Given the description of an element on the screen output the (x, y) to click on. 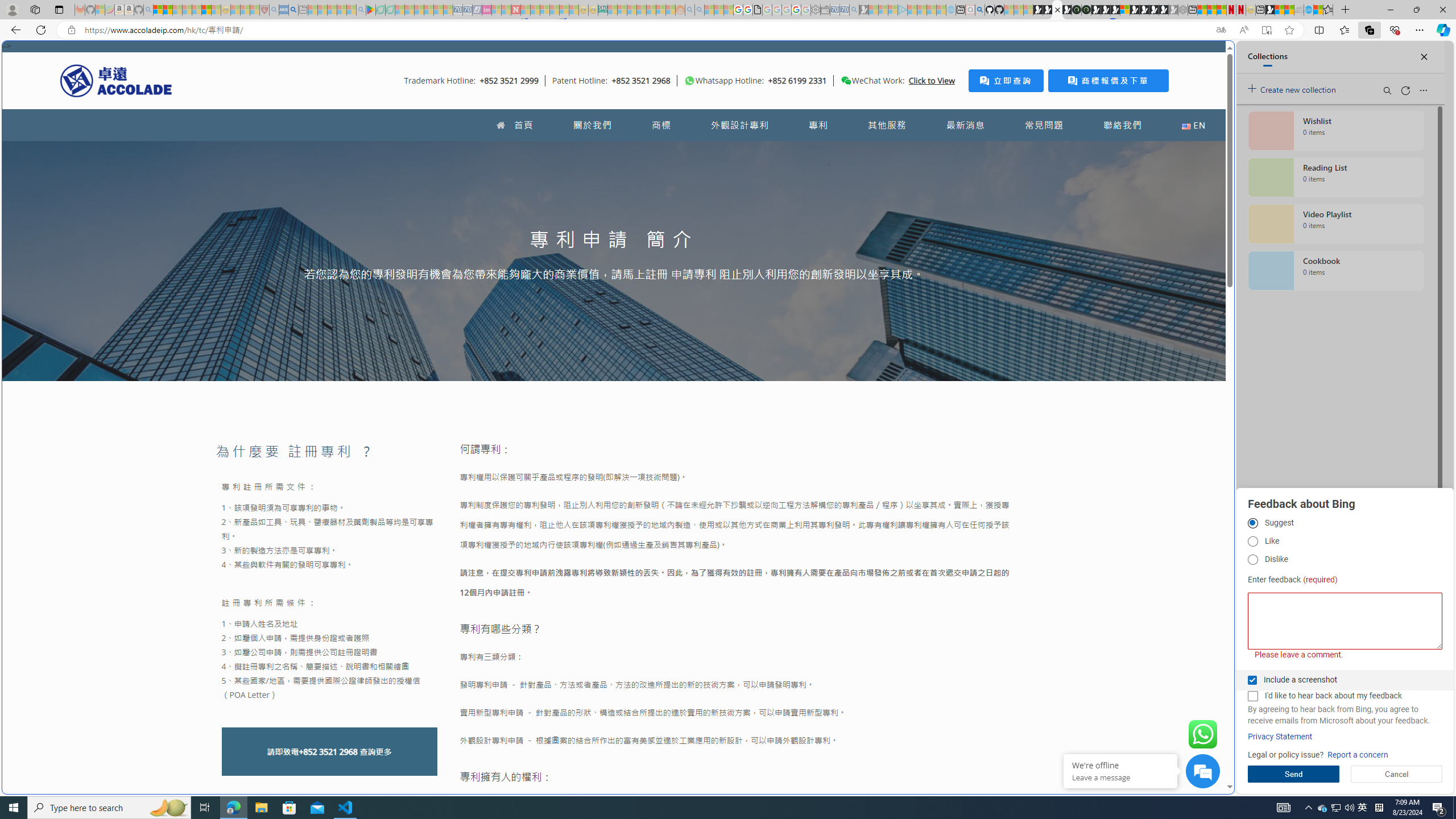
Class: desktop (845, 80)
Suggest (1252, 523)
Microsoft Start Gaming - Sleeping (863, 9)
Show translate options (1220, 29)
The Weather Channel - MSN - Sleeping (177, 9)
